Given the description of an element on the screen output the (x, y) to click on. 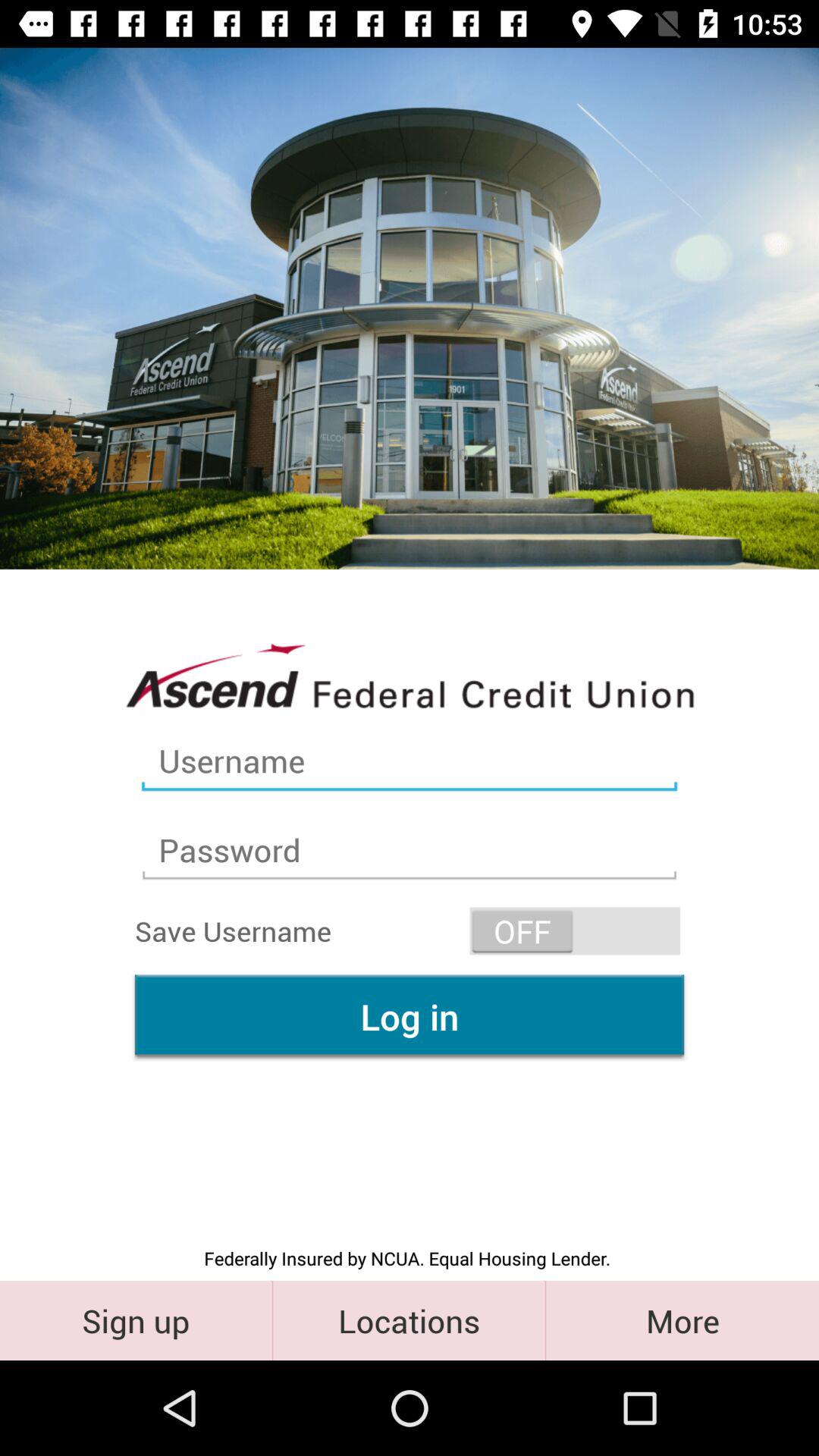
select the item above the federally insured by icon (409, 1016)
